Given the description of an element on the screen output the (x, y) to click on. 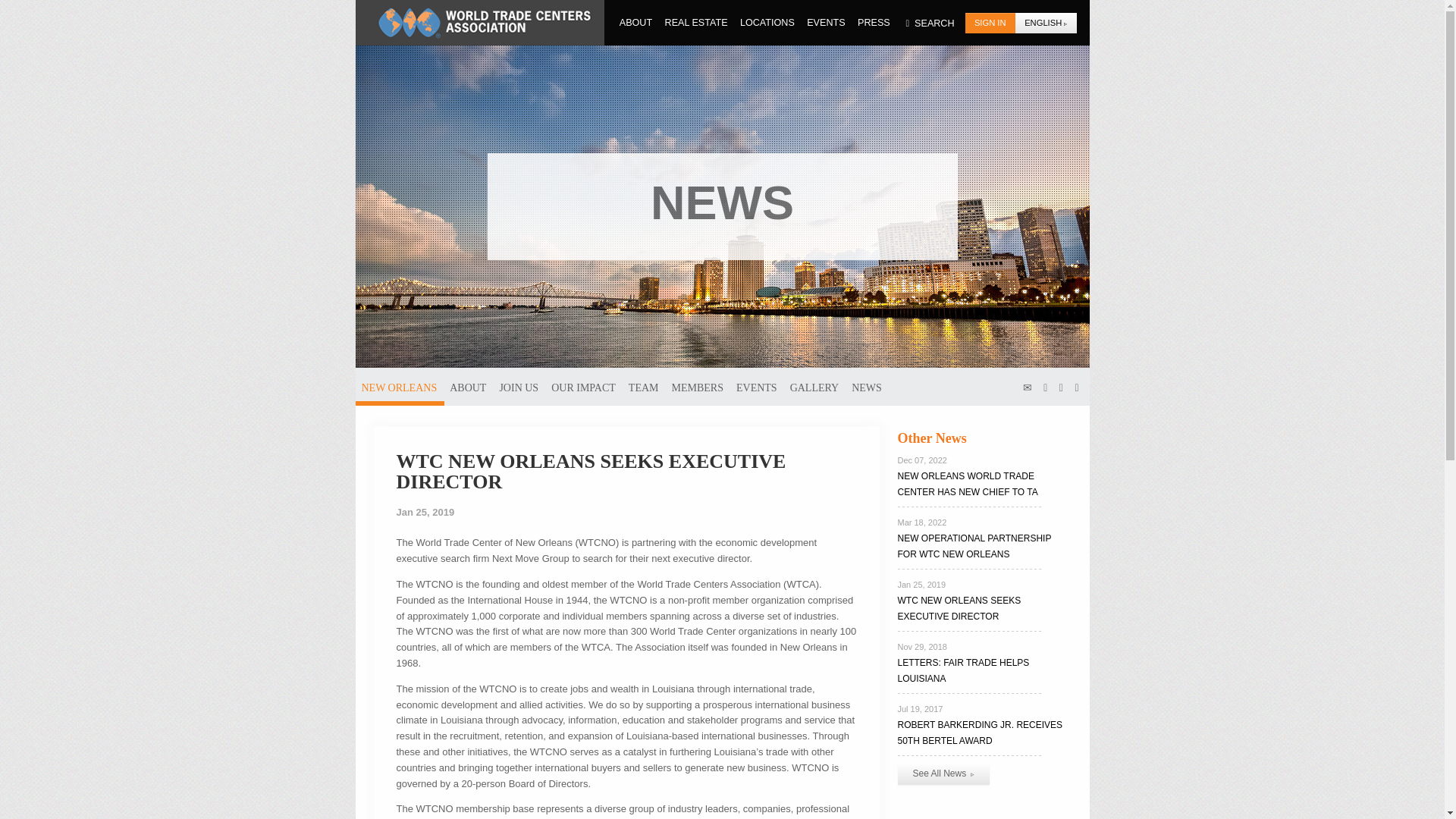
TEAM (643, 386)
GALLERY (815, 386)
NEW ORLEANS (398, 386)
ABOUT (635, 22)
OUR IMPACT (583, 386)
NEWS (866, 386)
JOIN US (519, 386)
EVENTS (825, 22)
ABOUT (467, 386)
REAL ESTATE (696, 22)
